Given the description of an element on the screen output the (x, y) to click on. 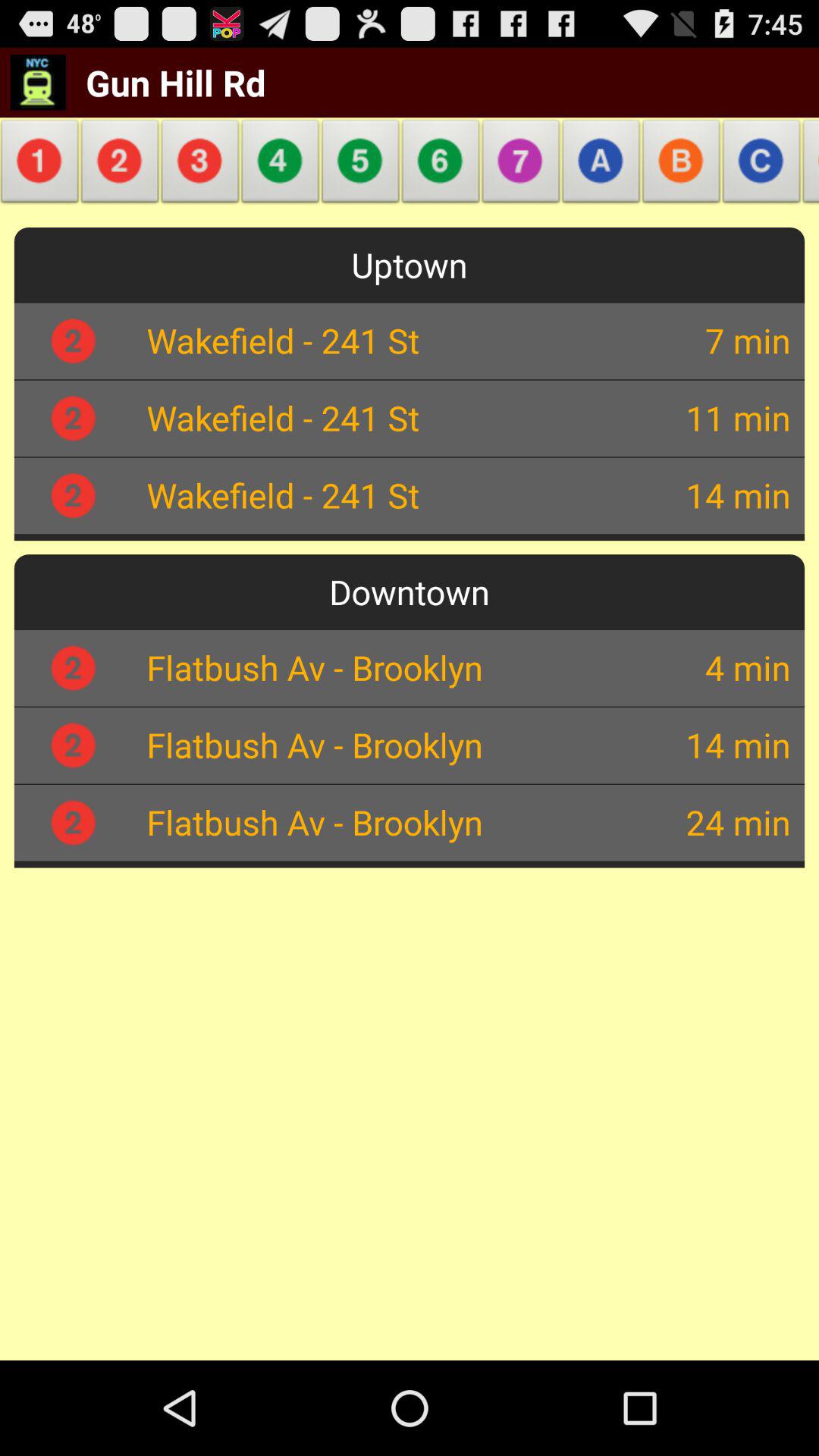
tap icon to the right of the gun hill rd app (360, 165)
